Given the description of an element on the screen output the (x, y) to click on. 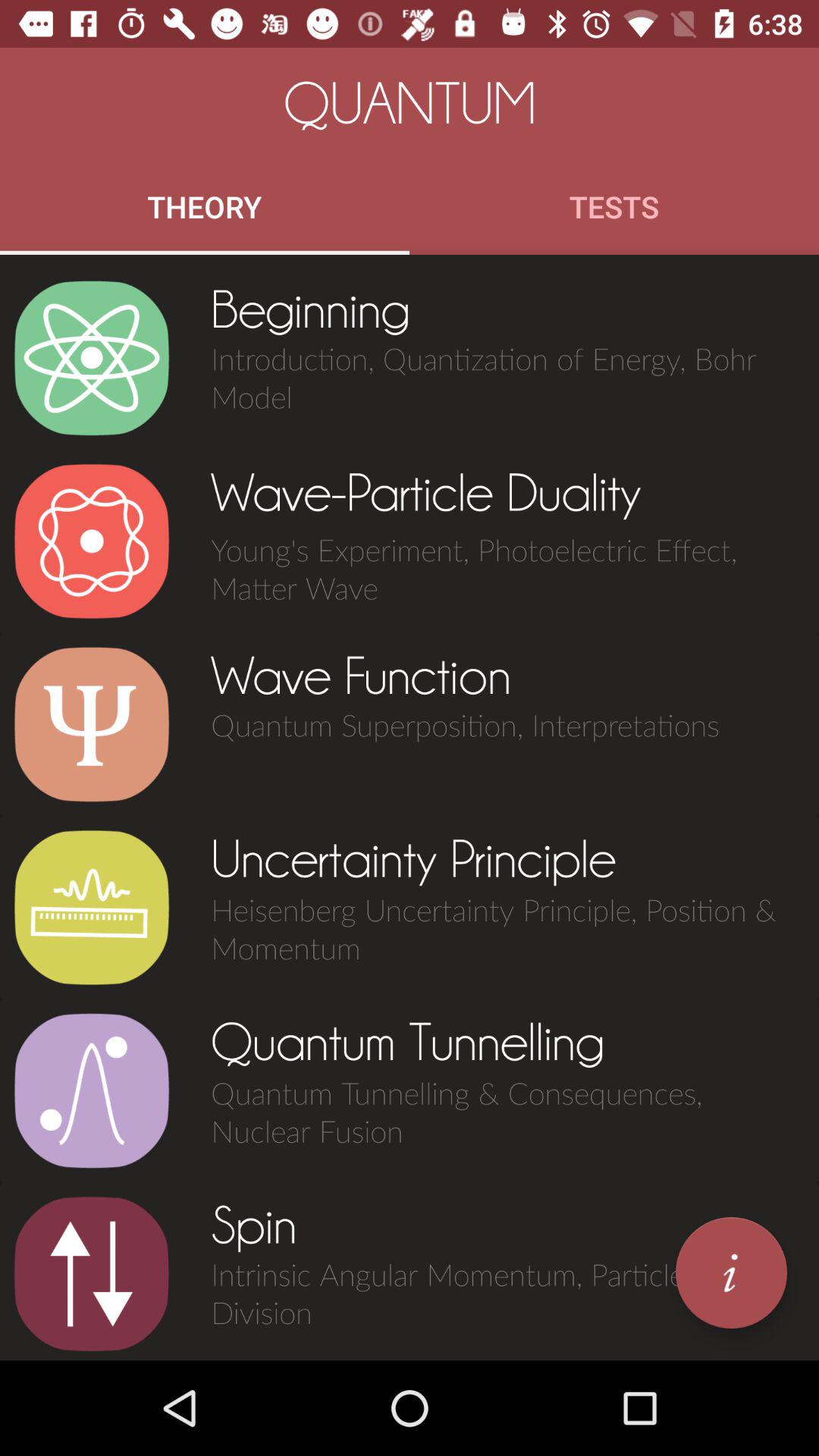
get information on quantum tunnelling (91, 1090)
